Given the description of an element on the screen output the (x, y) to click on. 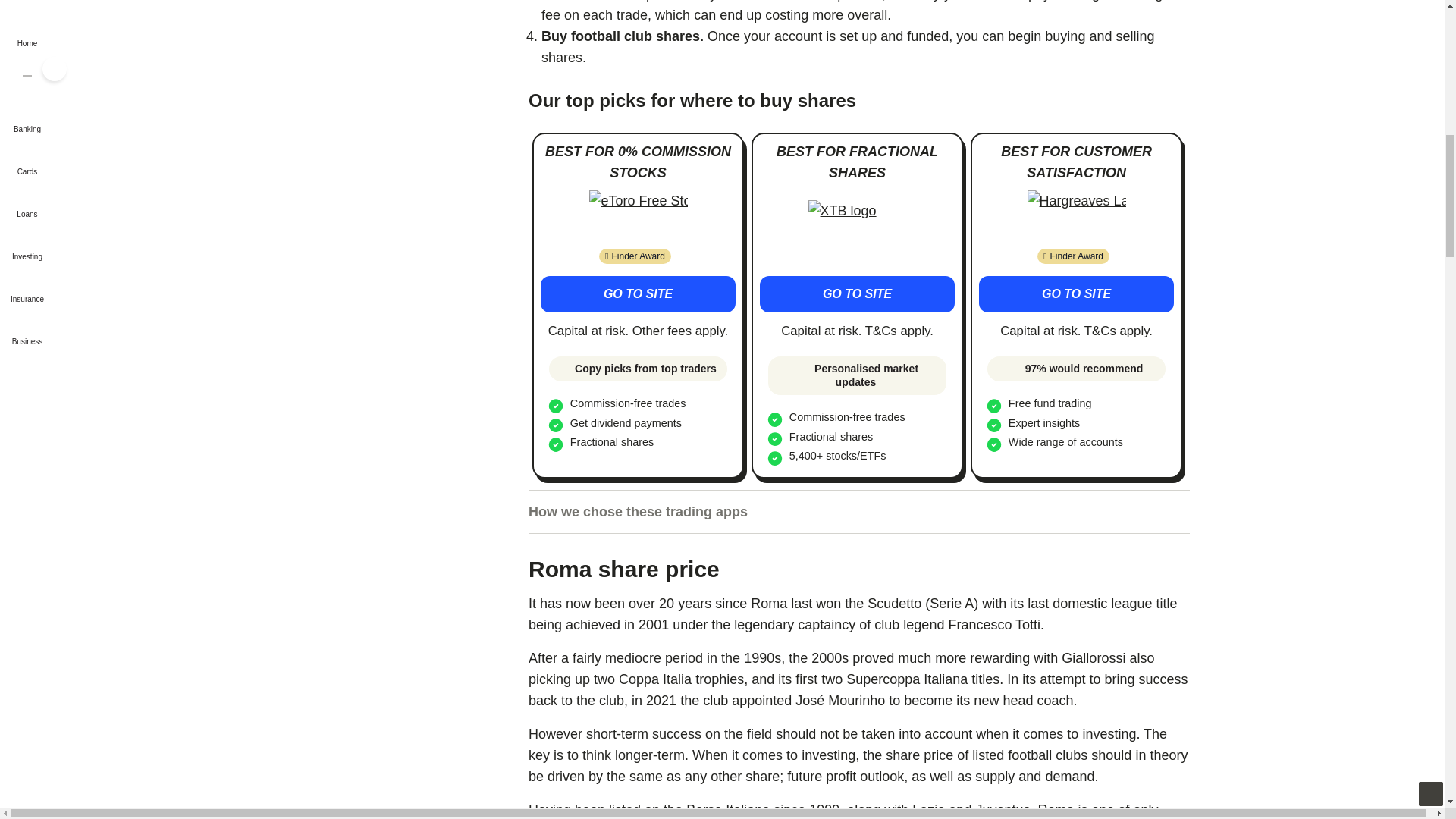
Go to Hargreaves Lansdown (1075, 294)
Go to eToro (638, 217)
Go to XTB (857, 226)
Go to XTB (857, 294)
Go to eToro (637, 294)
Go to Hargreaves Lansdown (1076, 217)
